Given the description of an element on the screen output the (x, y) to click on. 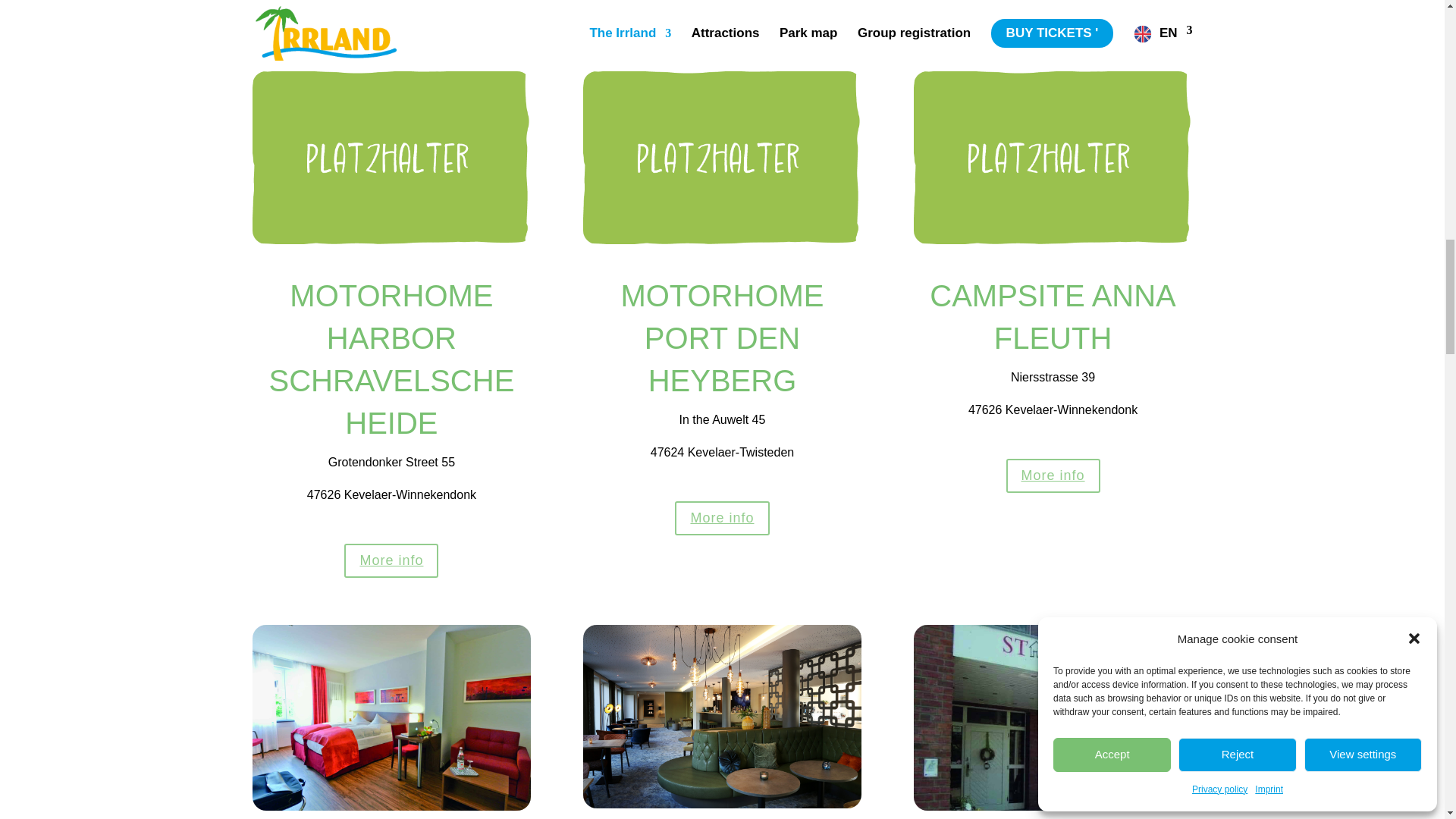
Placeholder green (391, 239)
Placeholder green (722, 239)
